Given the description of an element on the screen output the (x, y) to click on. 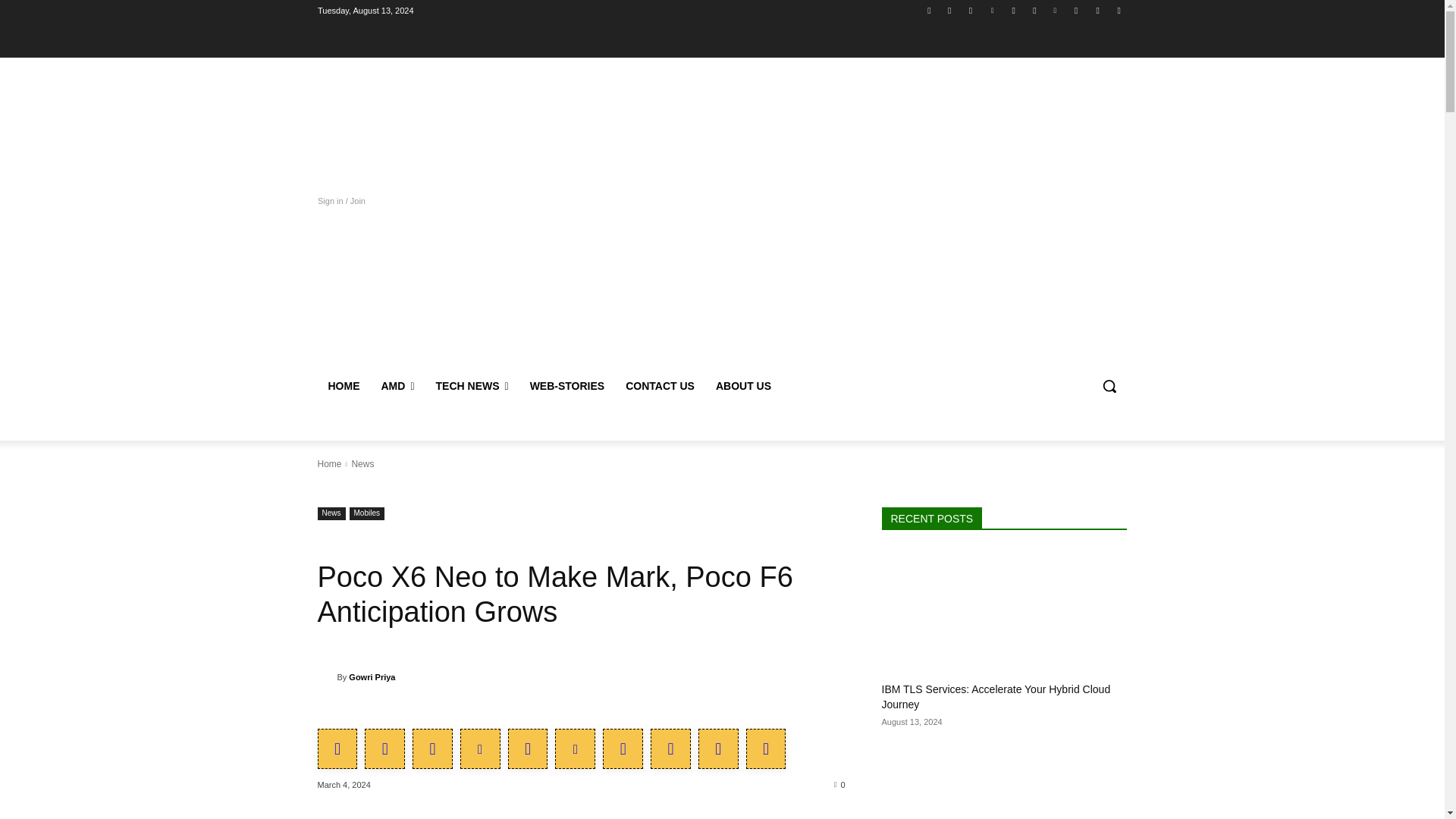
Instagram (949, 9)
Linkedin (992, 9)
Medium (1013, 9)
Tumblr (1034, 9)
Whatsapp (1075, 9)
Share (1117, 9)
Pinterest (1055, 9)
Twitter (970, 9)
Facebook (928, 9)
Reddit (1097, 9)
